Given the description of an element on the screen output the (x, y) to click on. 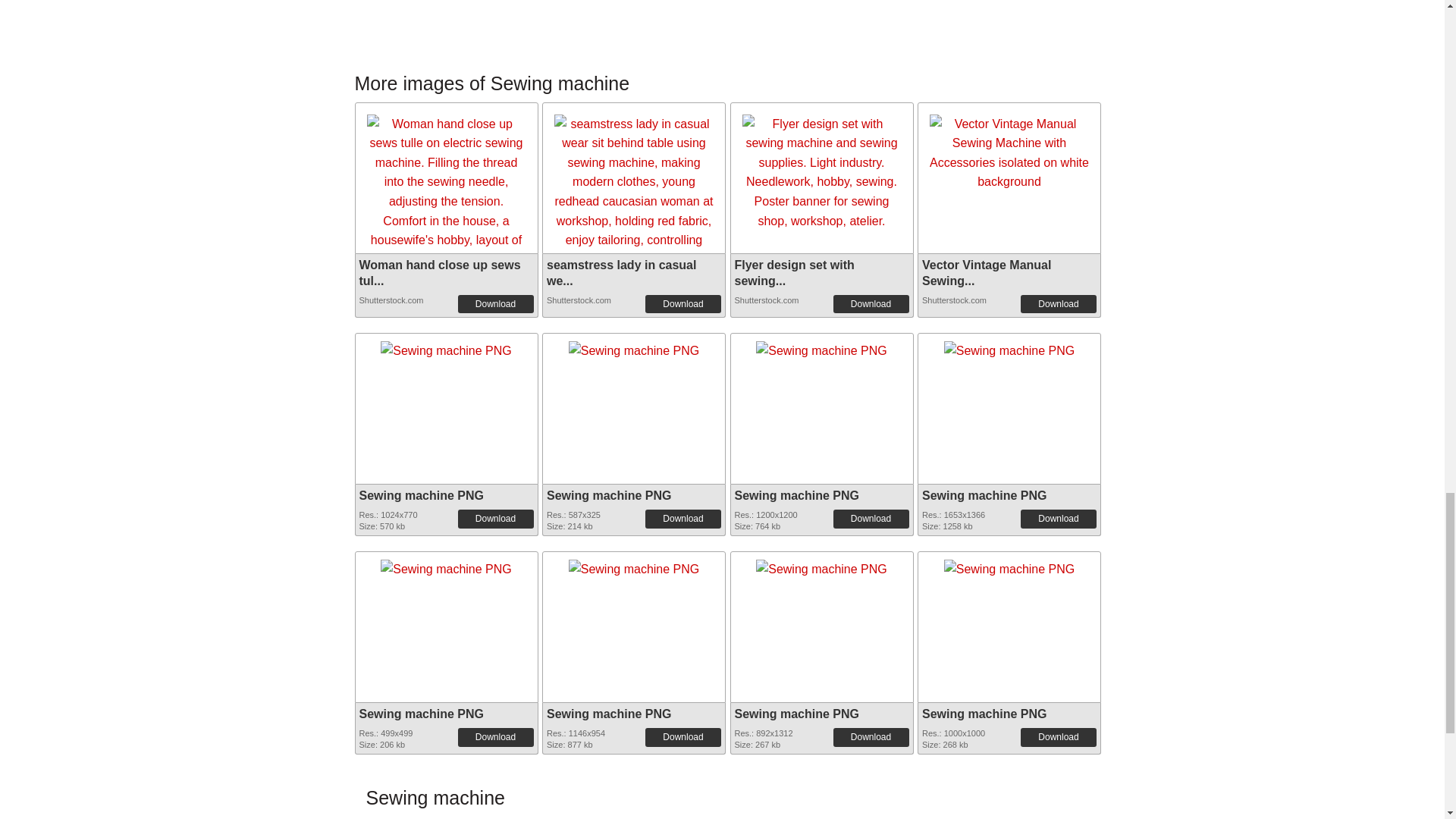
Sewing machine PNG (446, 565)
Flyer design set with sewing... (793, 272)
Download (682, 303)
Sewing machine PNG (634, 345)
Sewing machine PNG (446, 563)
Sewing machine PNG (820, 347)
seamstress lady in casual we... (621, 272)
Sewing machine PNG (1009, 347)
Download (870, 518)
Download (496, 303)
Vector Vintage Manual Sewing... (986, 272)
Download (496, 518)
Sewing machine PNG (796, 495)
